Given the description of an element on the screen output the (x, y) to click on. 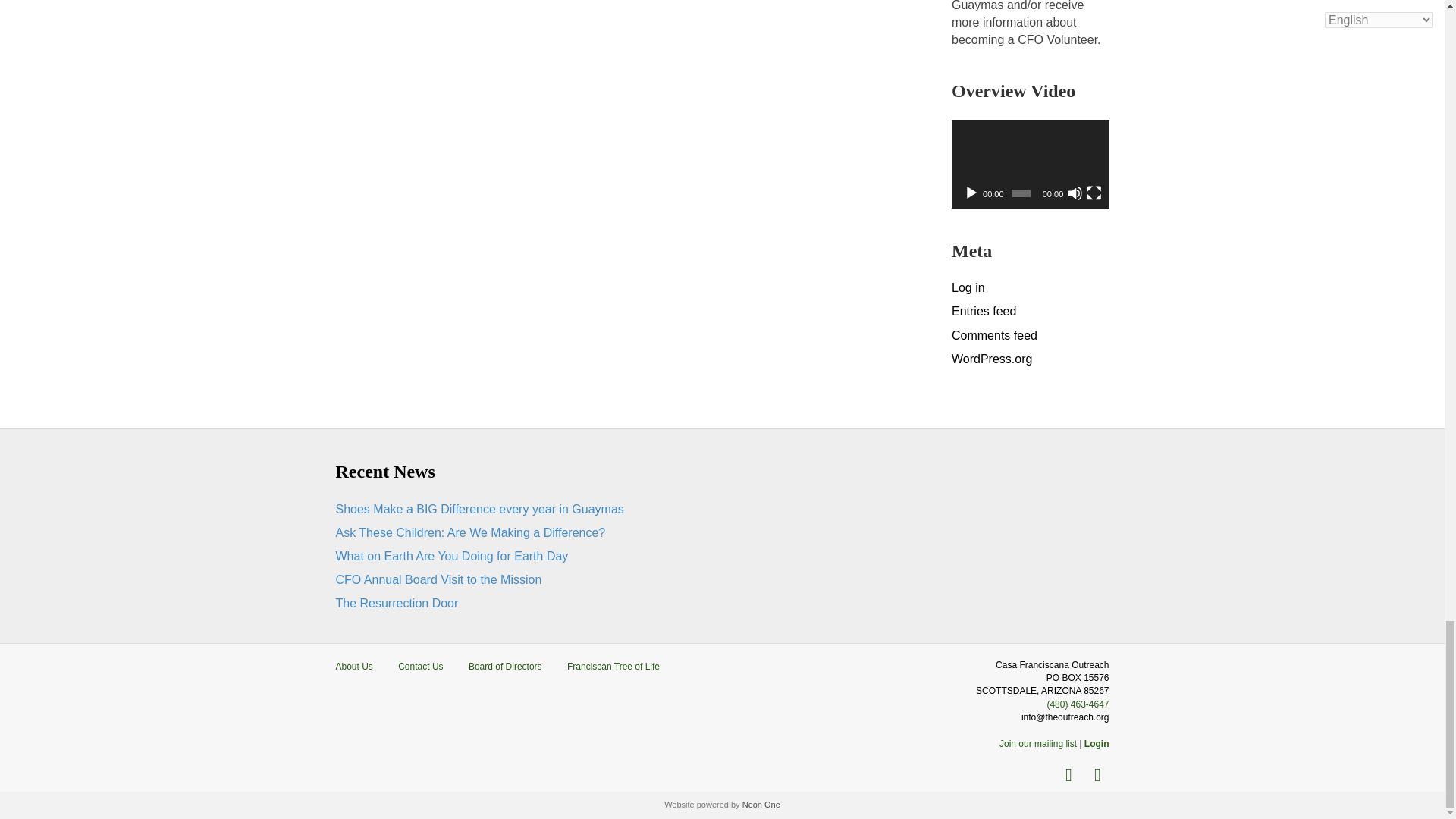
Play (970, 192)
Mute (1075, 192)
Fullscreen (1094, 192)
